Given the description of an element on the screen output the (x, y) to click on. 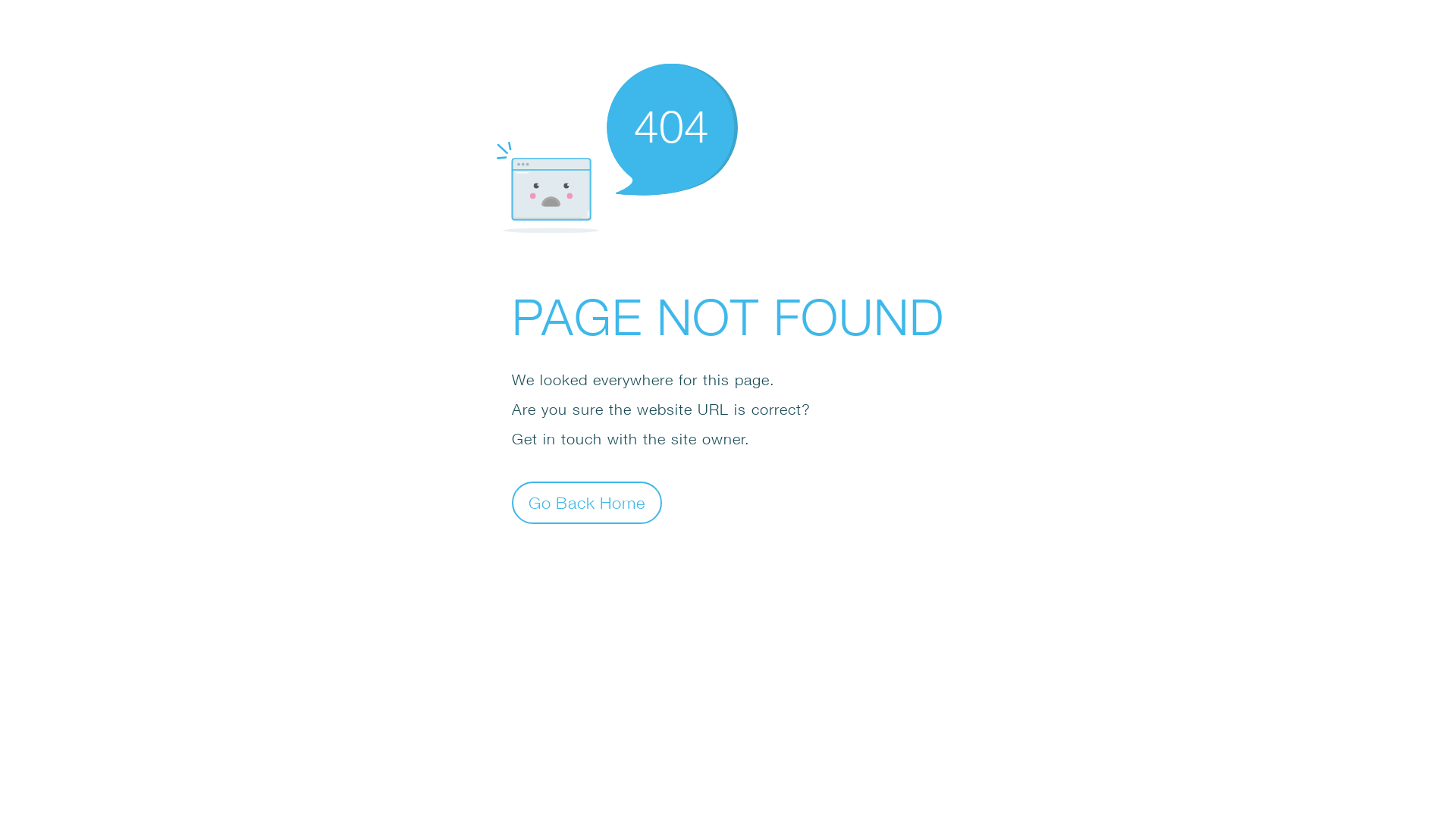
Go Back Home Element type: text (586, 502)
